Given the description of an element on the screen output the (x, y) to click on. 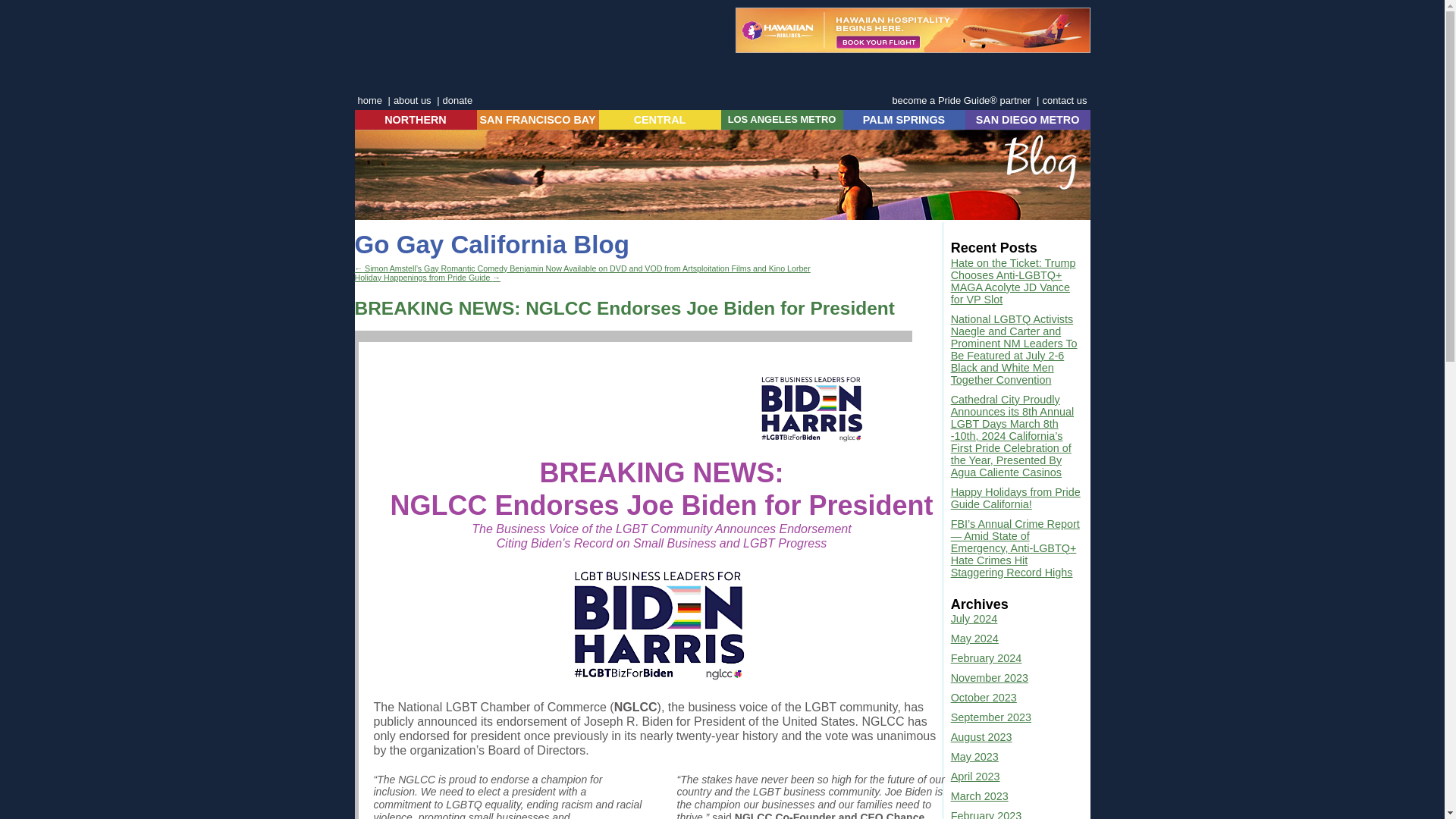
donate (457, 100)
NORTHERN (416, 119)
about us (411, 100)
CENTRAL (659, 119)
contact us (1064, 100)
SAN FRANCISCO BAY (537, 119)
home (370, 100)
